Given the description of an element on the screen output the (x, y) to click on. 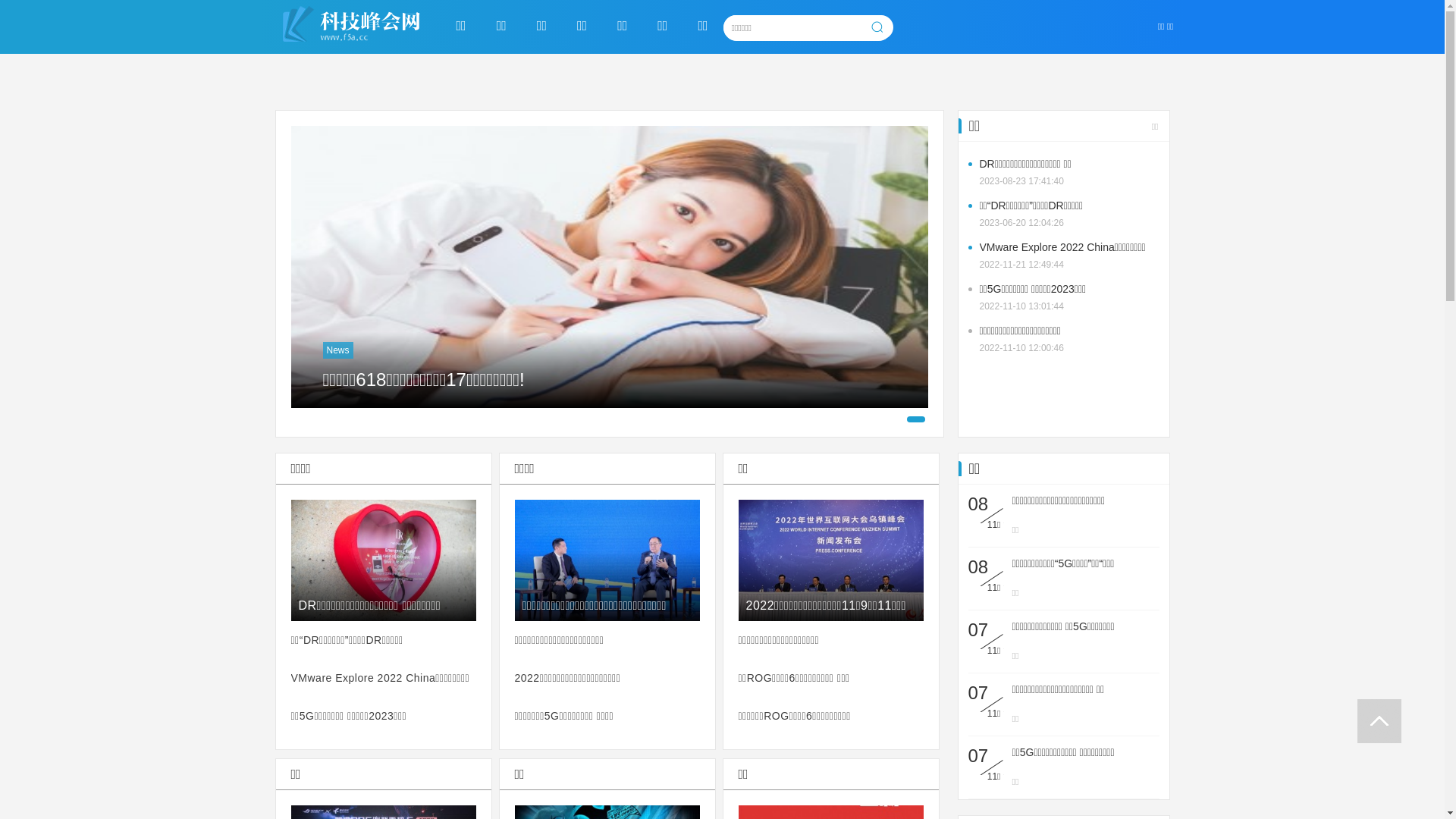
  Element type: text (1379, 721)
